Given the description of an element on the screen output the (x, y) to click on. 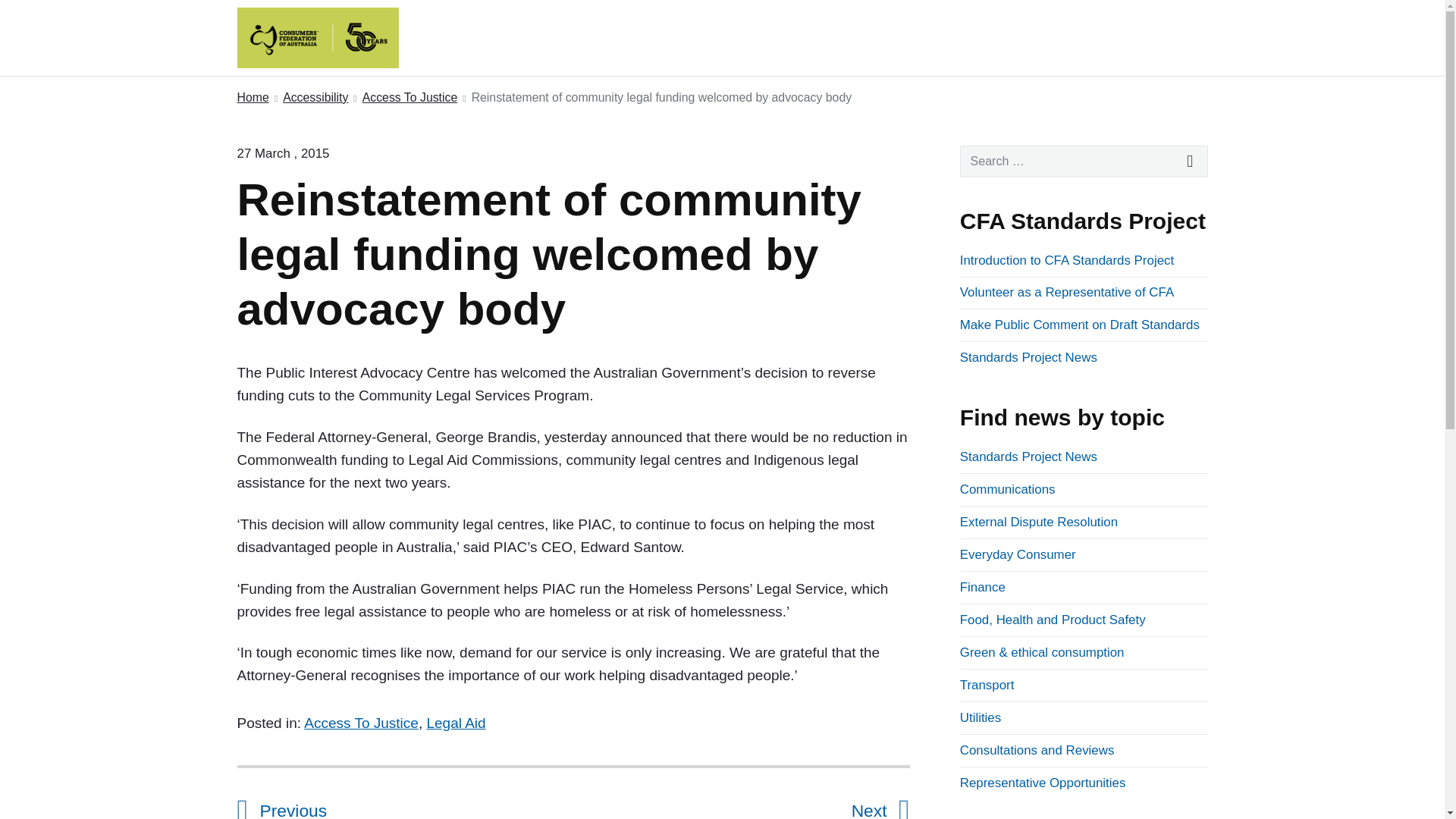
Search for: (1083, 161)
Friday, March 27, 2015, 9:55 am (282, 153)
